Given the description of an element on the screen output the (x, y) to click on. 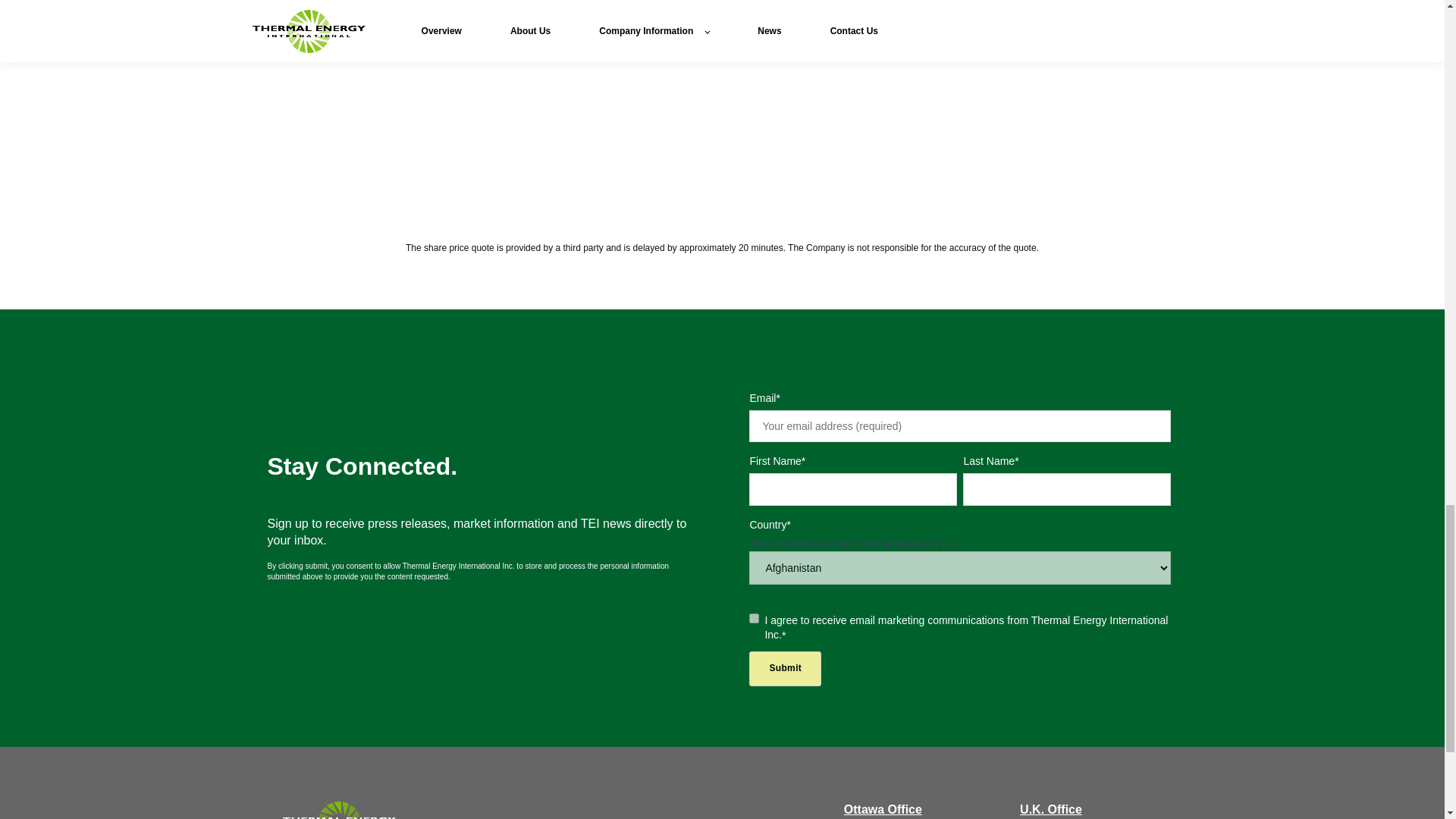
advanced chart TradingView widget (947, 110)
advanced chart TradingView widget (496, 110)
Submit (785, 668)
true (753, 618)
Submit (785, 668)
